Given the description of an element on the screen output the (x, y) to click on. 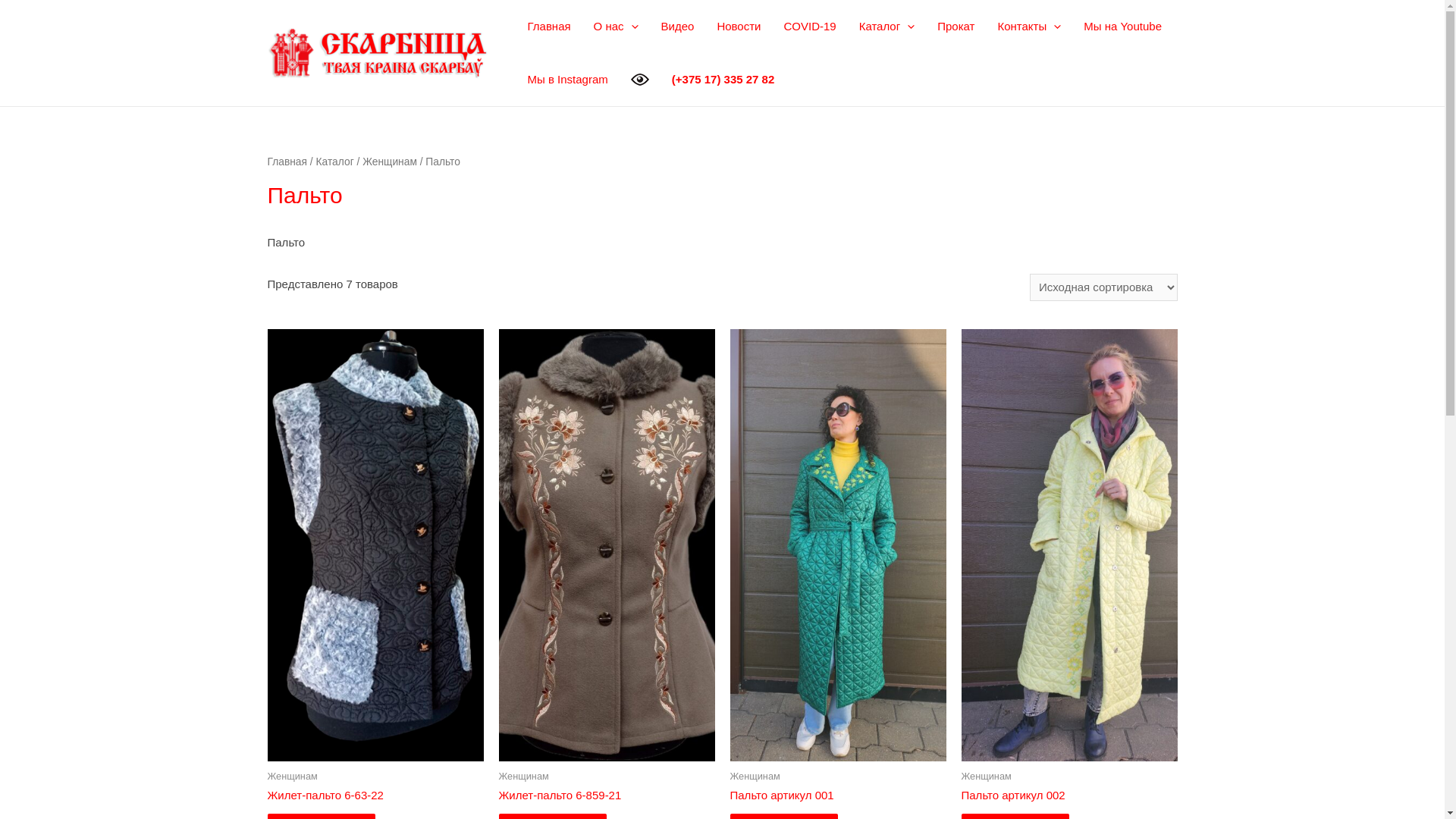
(+375 17) 335 27 82 Element type: text (723, 79)
COVID-19 Element type: text (809, 26)
